Given the description of an element on the screen output the (x, y) to click on. 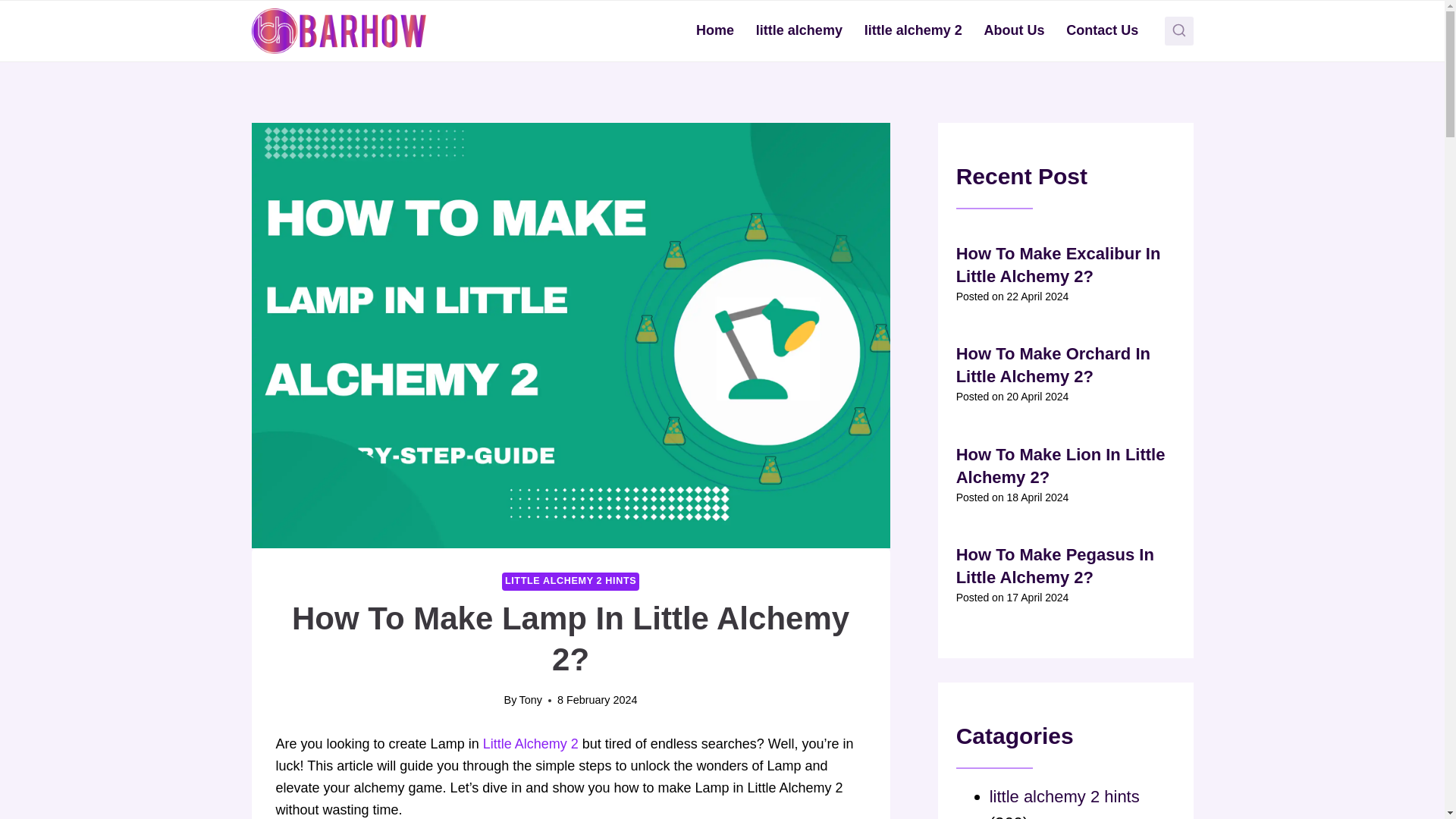
About Us (1013, 30)
little alchemy 2 (912, 30)
Home (715, 30)
Tony (530, 699)
Contact Us (1102, 30)
Little Alchemy 2 (532, 743)
LITTLE ALCHEMY 2 HINTS (570, 580)
little alchemy (798, 30)
